Given the description of an element on the screen output the (x, y) to click on. 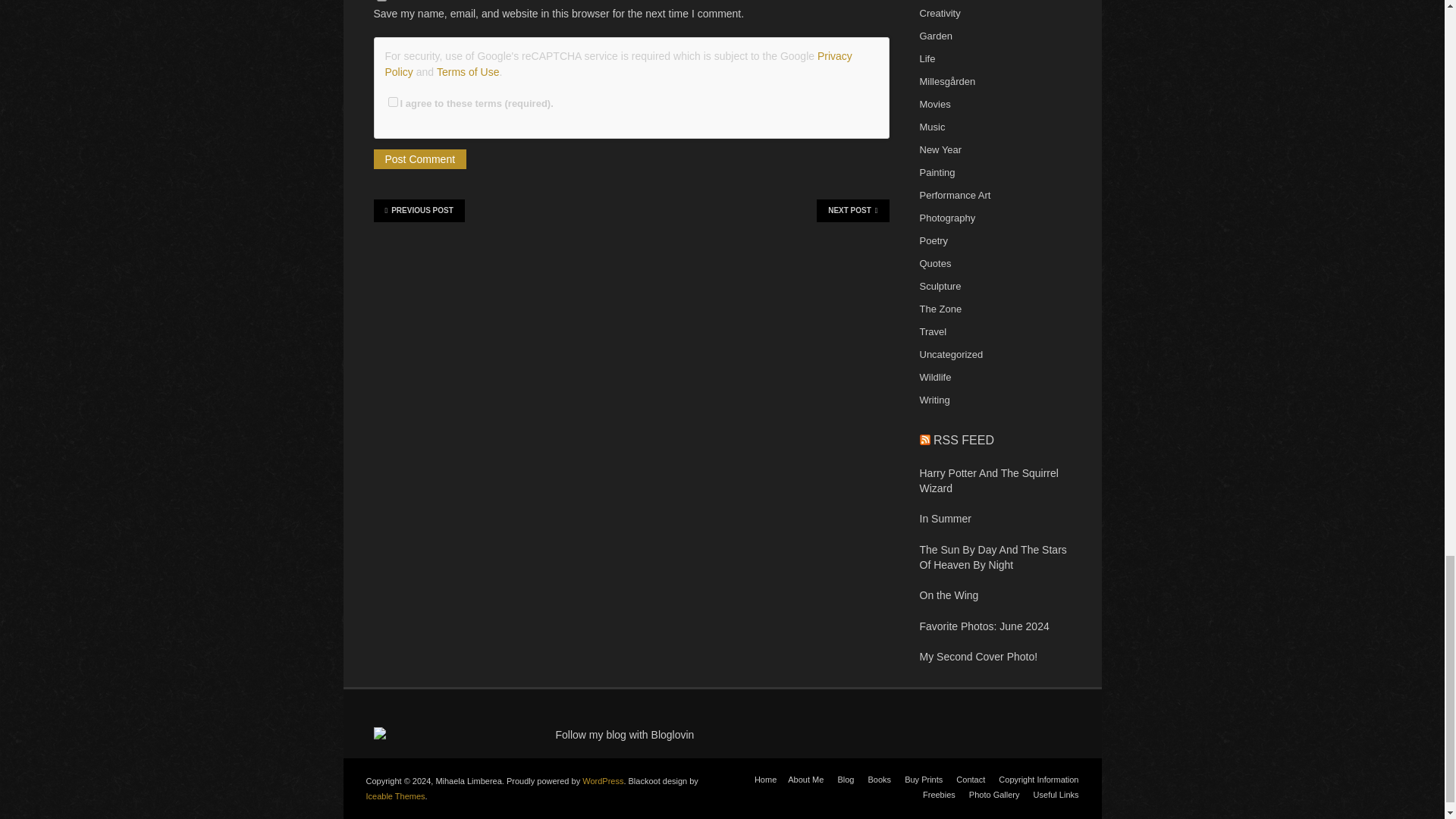
153299 (378, 734)
on (392, 102)
Post Comment (418, 158)
Terms of Use (467, 71)
Privacy Policy (618, 62)
Semantic Personal Publishing Platform (602, 780)
